Given the description of an element on the screen output the (x, y) to click on. 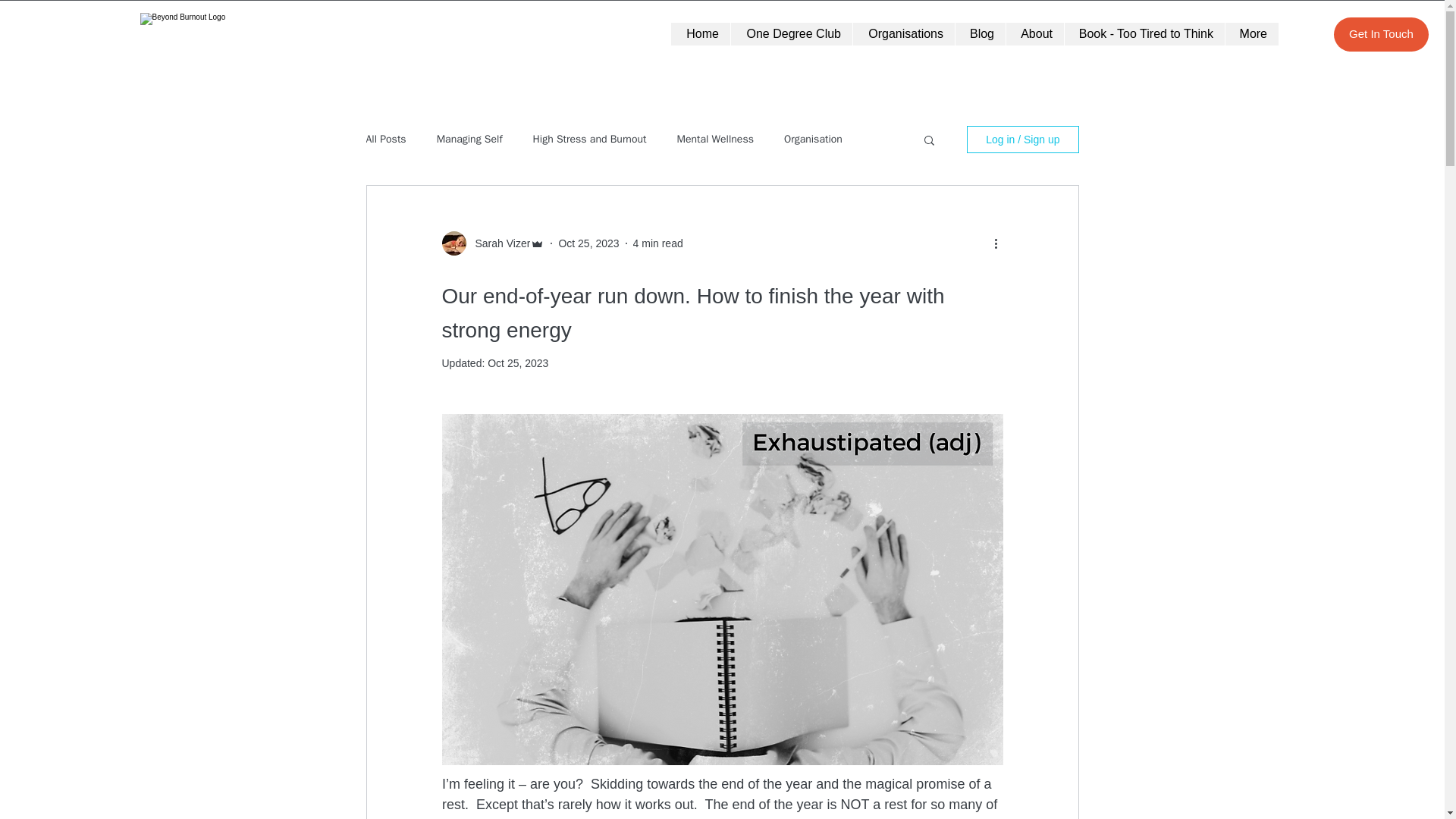
High Stress and Burnout (589, 139)
One Degree Club (790, 33)
Managing Self (469, 139)
Sarah Vizer (497, 242)
Home (700, 33)
About (1035, 33)
4 min read (657, 242)
Oct 25, 2023 (587, 242)
Organisation (813, 139)
Oct 25, 2023 (517, 363)
Organisations (903, 33)
All Posts (385, 139)
Get In Touch (1380, 34)
Blog (980, 33)
Book - Too Tired to Think (1144, 33)
